Given the description of an element on the screen output the (x, y) to click on. 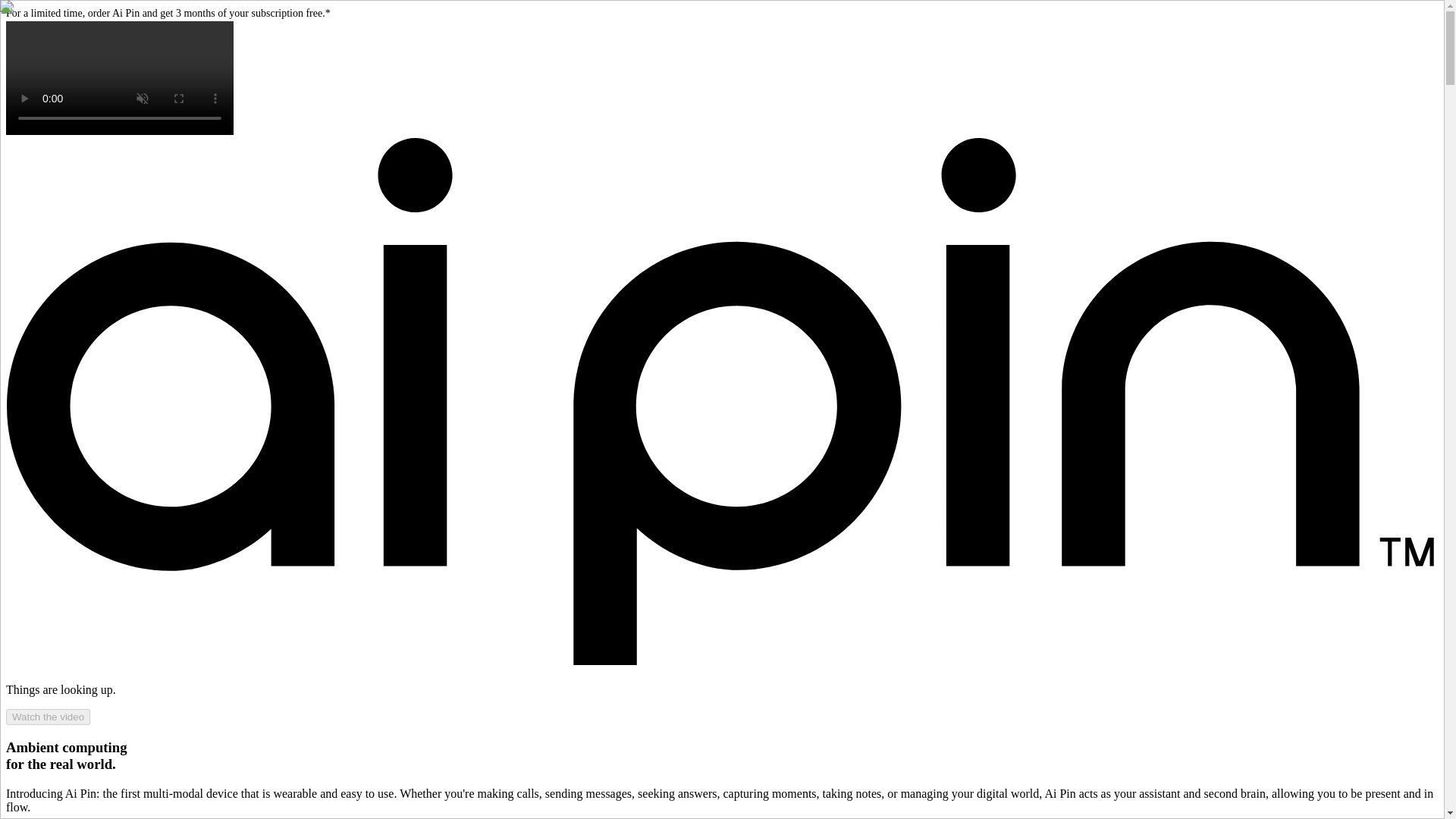
Watch the video (47, 716)
